Given the description of an element on the screen output the (x, y) to click on. 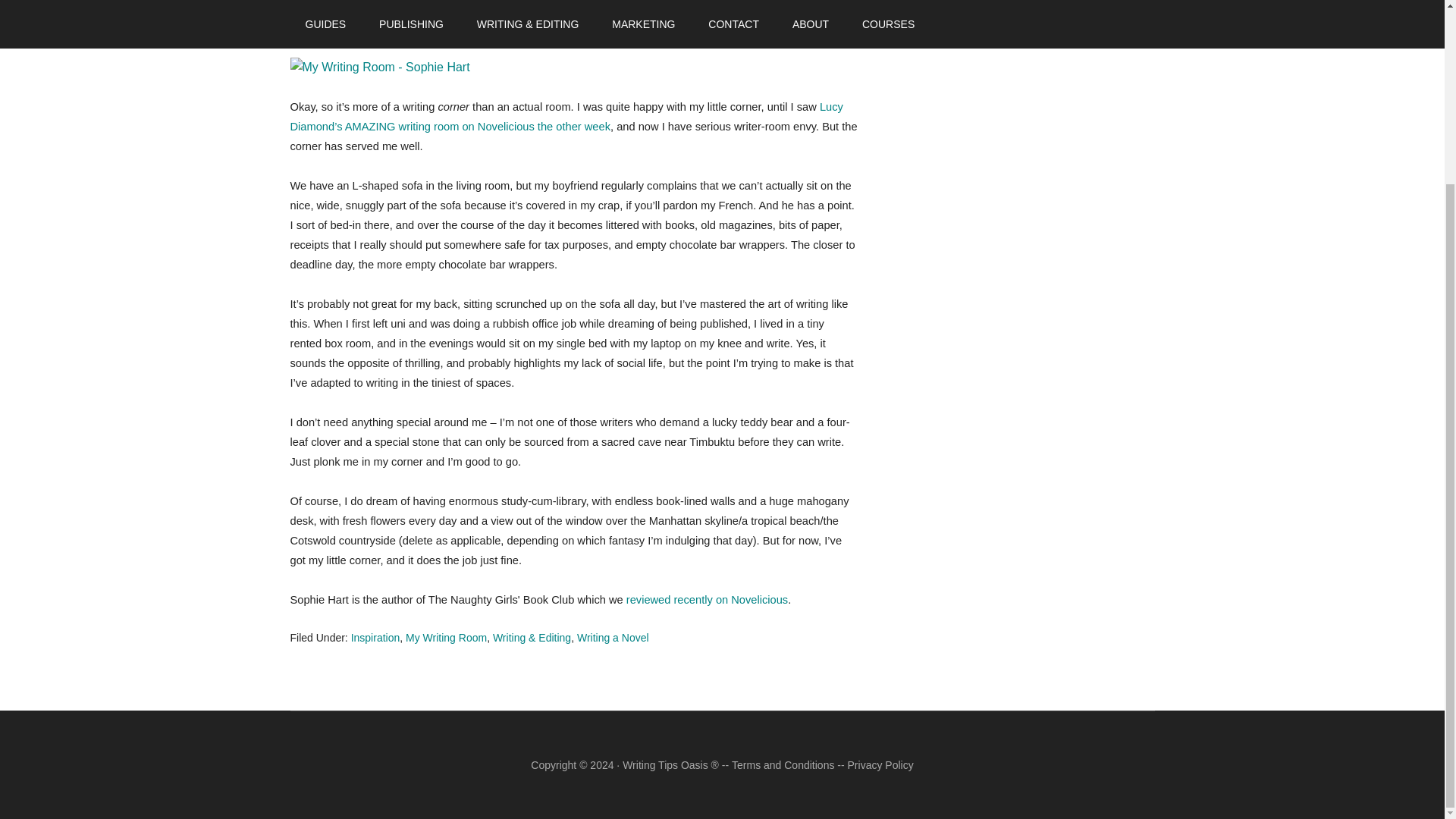
My Writing Room (446, 637)
Writing a Novel (612, 637)
My Writing Room - Sophie Hart (574, 66)
reviewed recently on Novelicious (706, 599)
Terms and Conditions (783, 765)
Privacy Policy (880, 765)
Inspiration (375, 637)
